Given the description of an element on the screen output the (x, y) to click on. 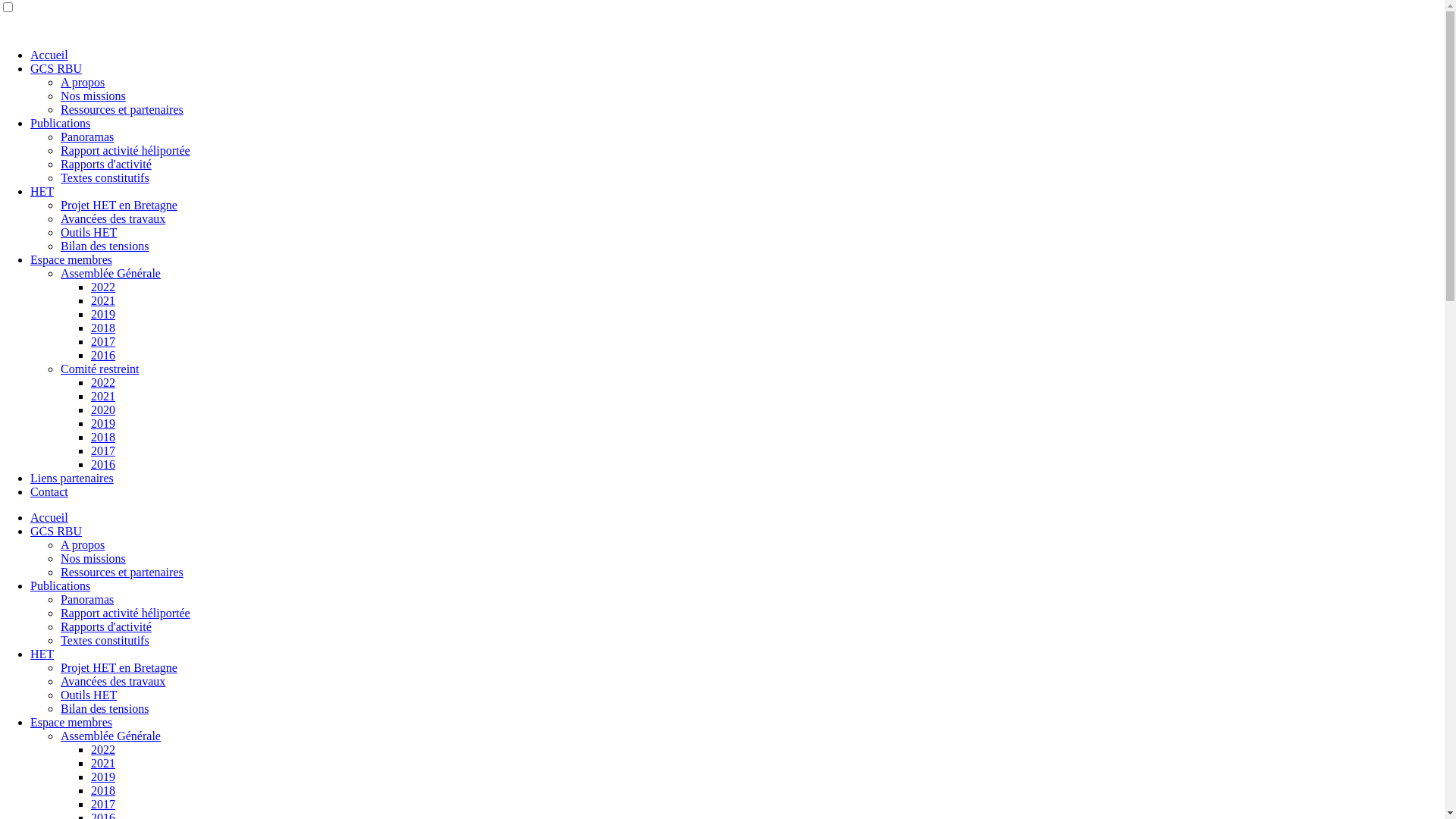
2022 Element type: text (103, 286)
GCS RBU Element type: text (55, 68)
Espace membres Element type: text (71, 259)
A propos Element type: text (82, 544)
A propos Element type: text (82, 81)
Nos missions Element type: text (92, 558)
Projet HET en Bretagne Element type: text (118, 667)
2022 Element type: text (103, 382)
Contact Element type: text (49, 491)
Outils HET Element type: text (88, 231)
Publications Element type: text (60, 122)
2018 Element type: text (103, 327)
2017 Element type: text (103, 450)
2022 Element type: text (103, 749)
2018 Element type: text (103, 790)
GCS RBU Element type: text (55, 530)
2019 Element type: text (103, 423)
Panoramas Element type: text (86, 599)
2021 Element type: text (103, 300)
Textes constitutifs Element type: text (104, 177)
Liens partenaires Element type: text (71, 477)
Publications Element type: text (60, 585)
Accueil Element type: text (49, 517)
2021 Element type: text (103, 395)
HET Element type: text (41, 653)
2016 Element type: text (103, 464)
HET Element type: text (41, 191)
Bilan des tensions Element type: text (104, 708)
2016 Element type: text (103, 354)
Outils HET Element type: text (88, 694)
Panoramas Element type: text (86, 136)
2017 Element type: text (103, 803)
2020 Element type: text (103, 409)
Ressources et partenaires Element type: text (121, 571)
Accueil Element type: text (49, 54)
Textes constitutifs Element type: text (104, 639)
Projet HET en Bretagne Element type: text (118, 204)
2021 Element type: text (103, 762)
2019 Element type: text (103, 776)
2018 Element type: text (103, 436)
Bilan des tensions Element type: text (104, 245)
Ressources et partenaires Element type: text (121, 109)
Nos missions Element type: text (92, 95)
Espace membres Element type: text (71, 721)
2019 Element type: text (103, 313)
2017 Element type: text (103, 341)
